Given the description of an element on the screen output the (x, y) to click on. 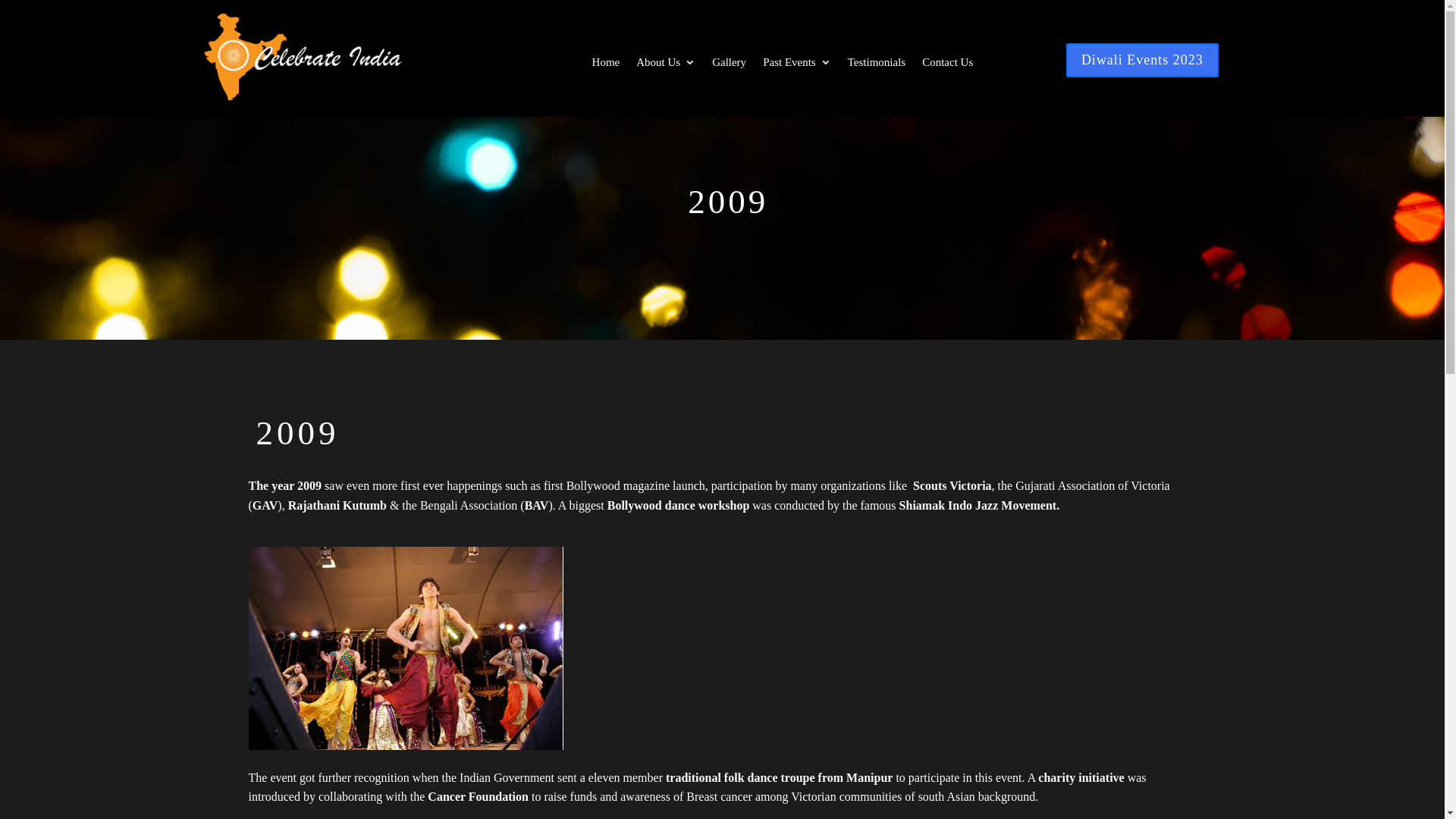
Diwali Events 2023 Element type: text (1142, 60)
Contact Us Element type: text (947, 64)
india-1280x600 Element type: hover (252, 32)
Testimonials Element type: text (876, 64)
Past Events Element type: text (796, 64)
Home Element type: text (606, 64)
About Us Element type: text (665, 64)
Gallery Element type: text (729, 64)
